Given the description of an element on the screen output the (x, y) to click on. 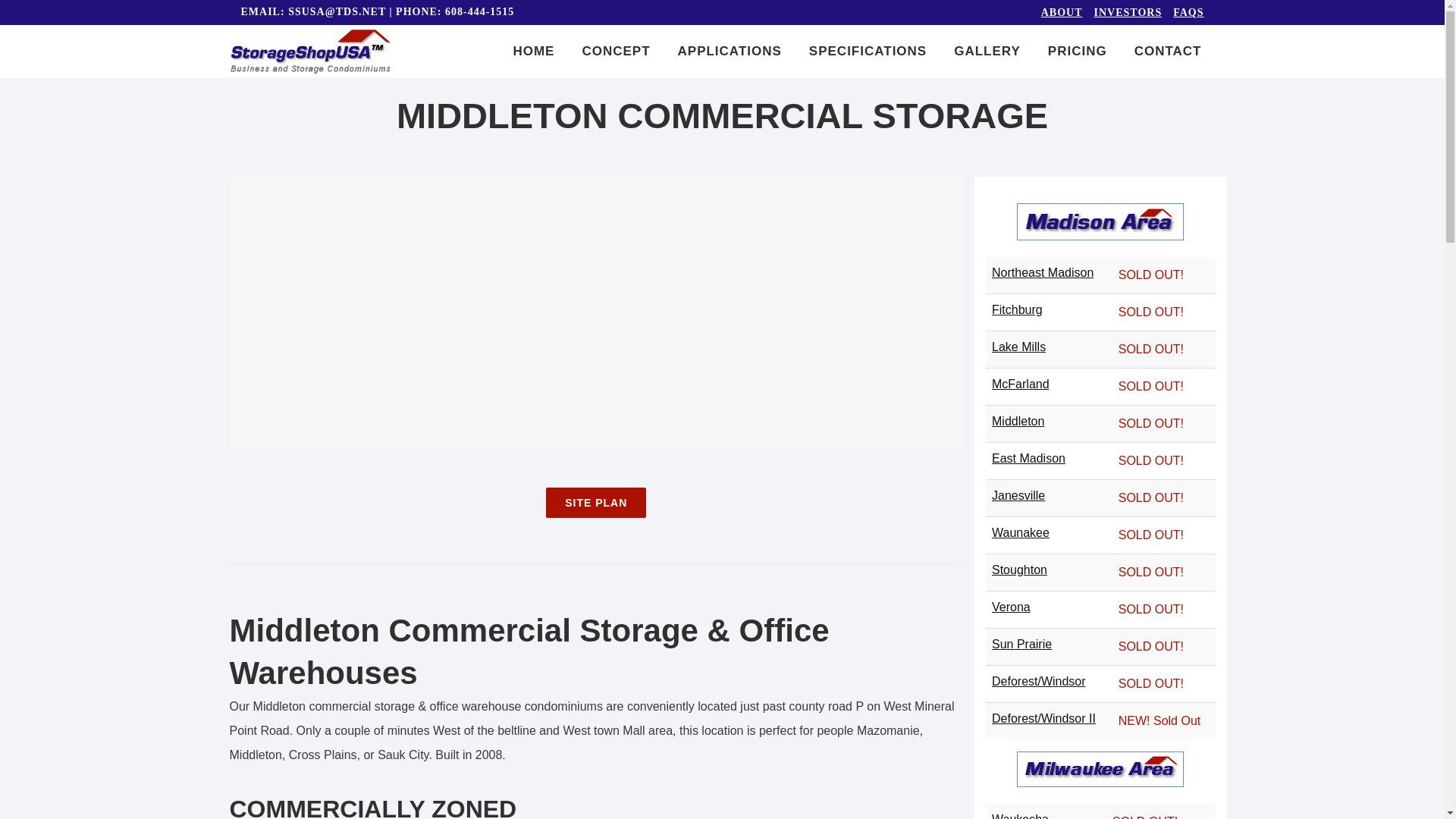
SPECIFICATIONS (867, 51)
ABOUT (1056, 12)
Northeast Madison (1042, 272)
INVESTORS (1122, 12)
HOME (533, 51)
PRICING (1077, 51)
Stoughton (1018, 569)
FAQS (1182, 12)
McFarland (1020, 383)
East Madison (1028, 458)
Sun Prairie (1021, 644)
Janesville (1018, 495)
Waunakee (1020, 532)
SITE PLAN (596, 502)
APPLICATIONS (728, 51)
